Given the description of an element on the screen output the (x, y) to click on. 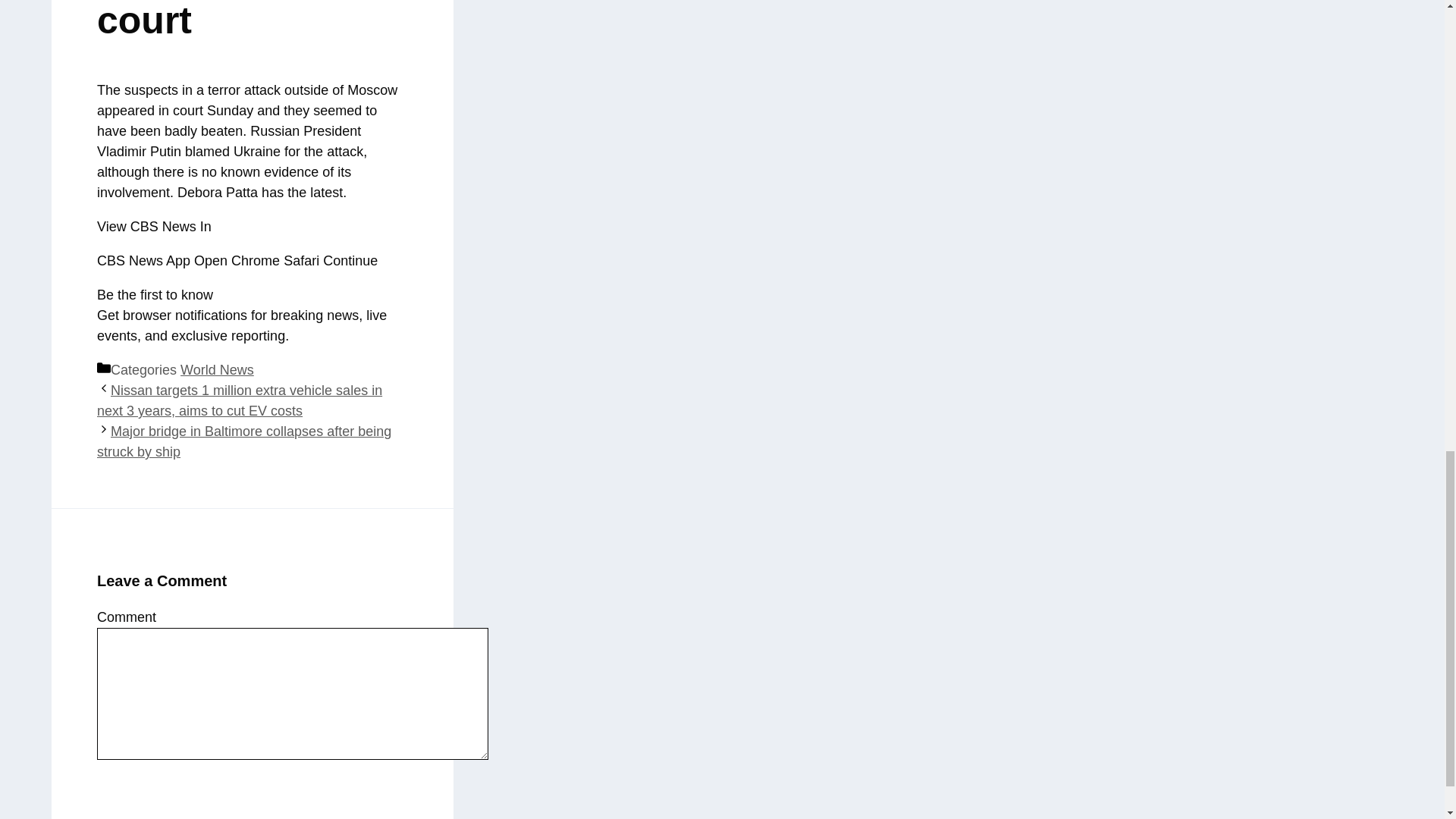
World News (216, 369)
